Given the description of an element on the screen output the (x, y) to click on. 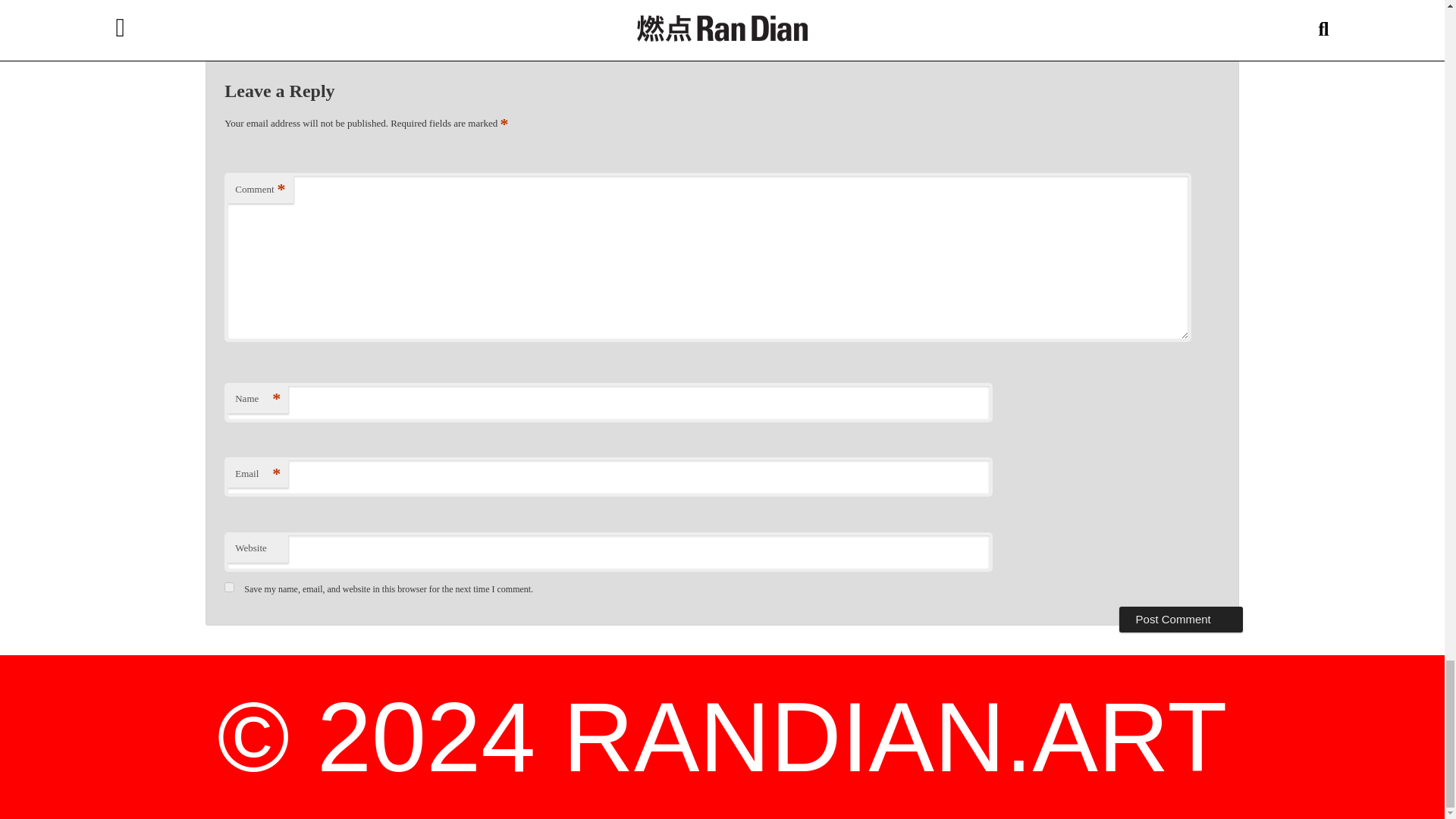
China (782, 3)
art gallery (666, 3)
Reviews (441, 3)
Post Comment (1181, 619)
"Silk Road International" (552, 3)
yes (229, 587)
Nanjing (900, 3)
art (636, 3)
artist (756, 3)
exhibition (818, 3)
magazine (862, 3)
2016 (617, 3)
Art Museum (717, 3)
Permalink to A Temporary Coalition of Small Producers (1045, 15)
